Given the description of an element on the screen output the (x, y) to click on. 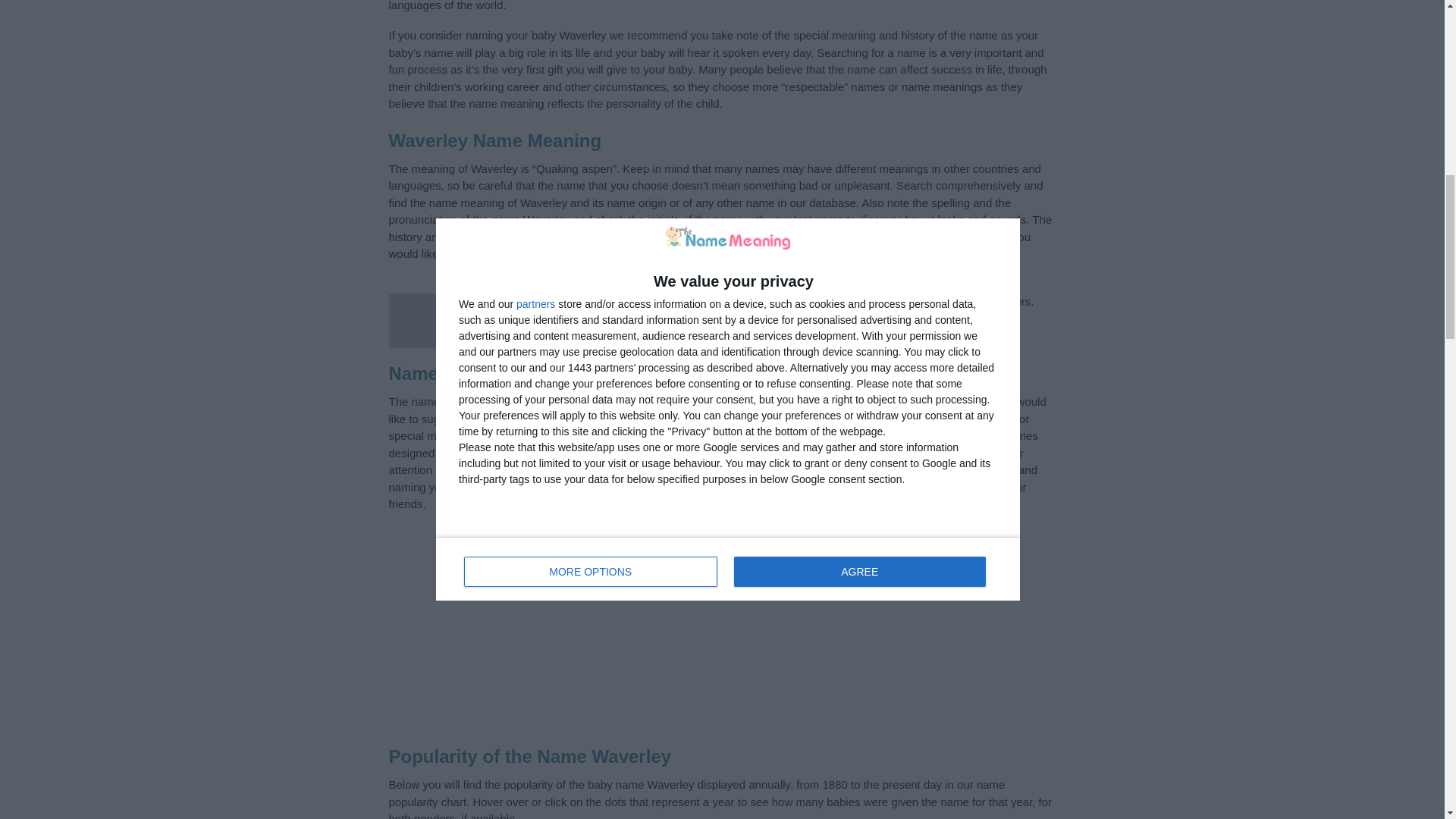
here (691, 418)
click here (530, 253)
baby name categories (906, 418)
baby name articles (780, 469)
